Given the description of an element on the screen output the (x, y) to click on. 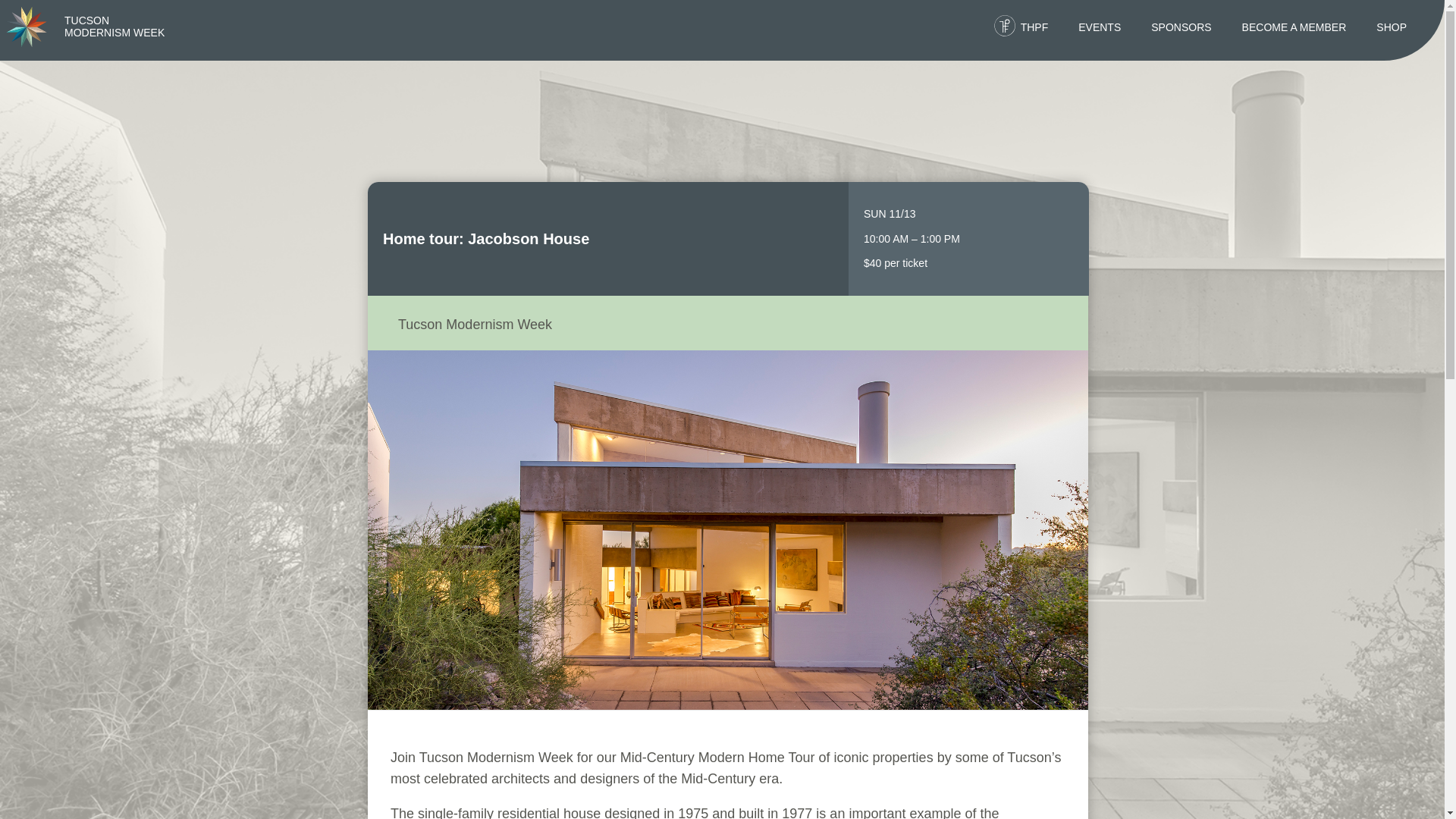
BECOME A MEMBER (1293, 27)
SHOP (1390, 27)
CART (790, 68)
SPONSORS (1181, 27)
THPF (1034, 27)
EVENTS (1099, 27)
Modernism Week logo (114, 26)
